Given the description of an element on the screen output the (x, y) to click on. 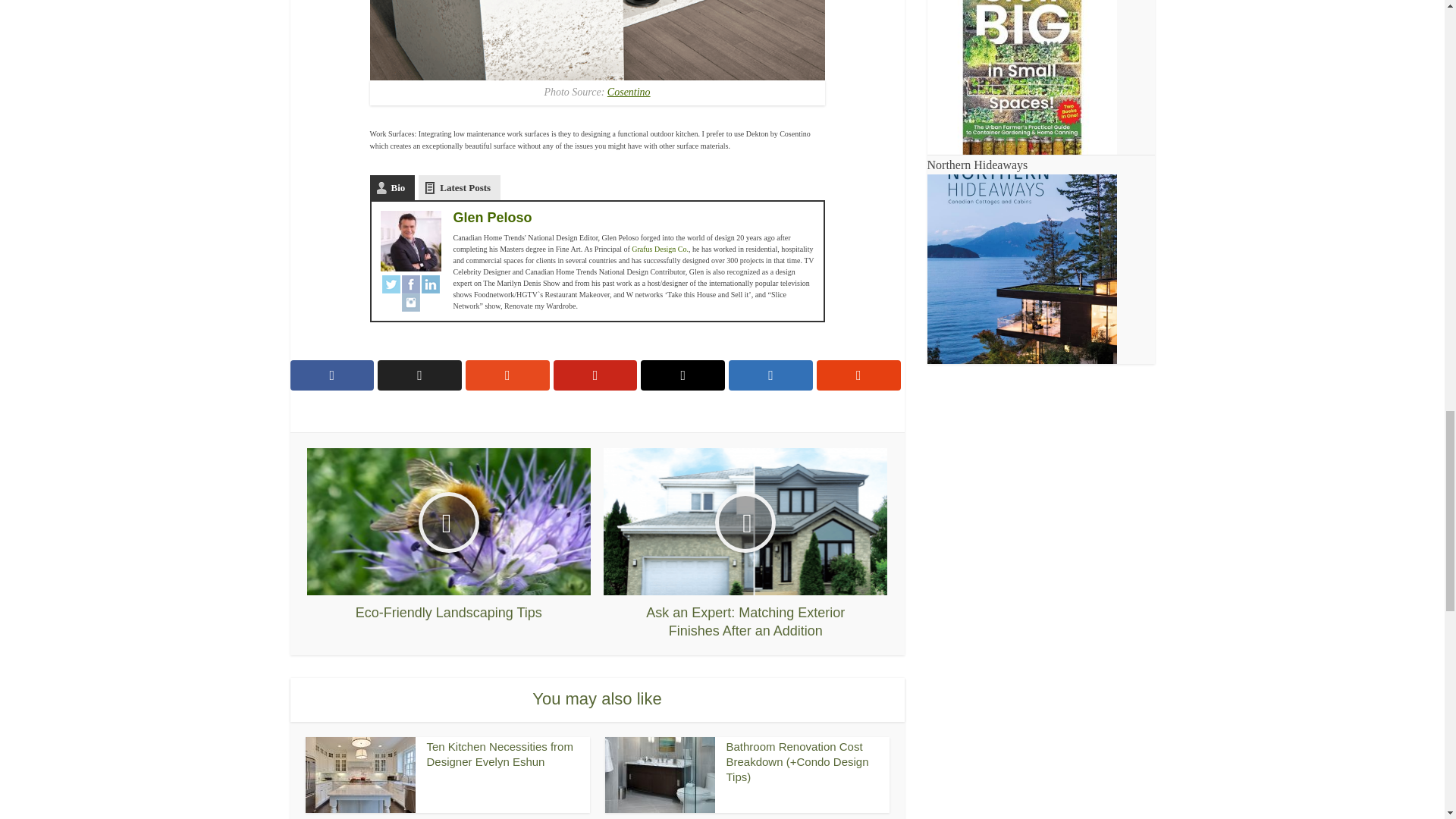
Ten Kitchen Necessities from Designer Evelyn Eshun (499, 754)
Facebook (410, 284)
LinkedIn (430, 284)
Instagram (410, 302)
Twitter (390, 284)
